Given the description of an element on the screen output the (x, y) to click on. 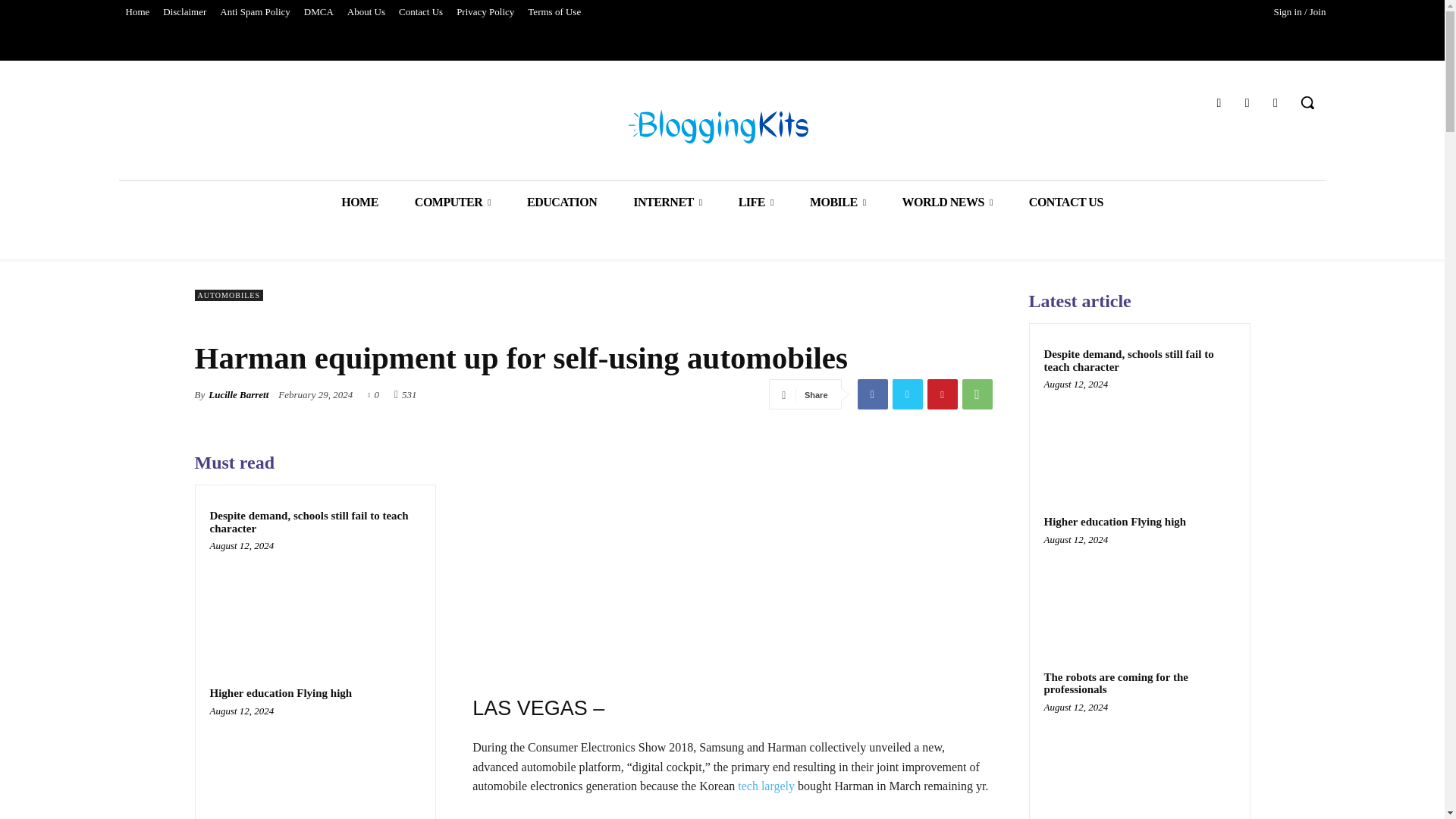
WhatsApp (975, 394)
DMCA (318, 12)
Disclaimer (183, 12)
Pinterest (941, 394)
Higher education Flying high (314, 766)
Facebook (871, 394)
Contact Us (420, 12)
Privacy Policy (485, 12)
Home (136, 12)
Twitter (906, 394)
